Given the description of an element on the screen output the (x, y) to click on. 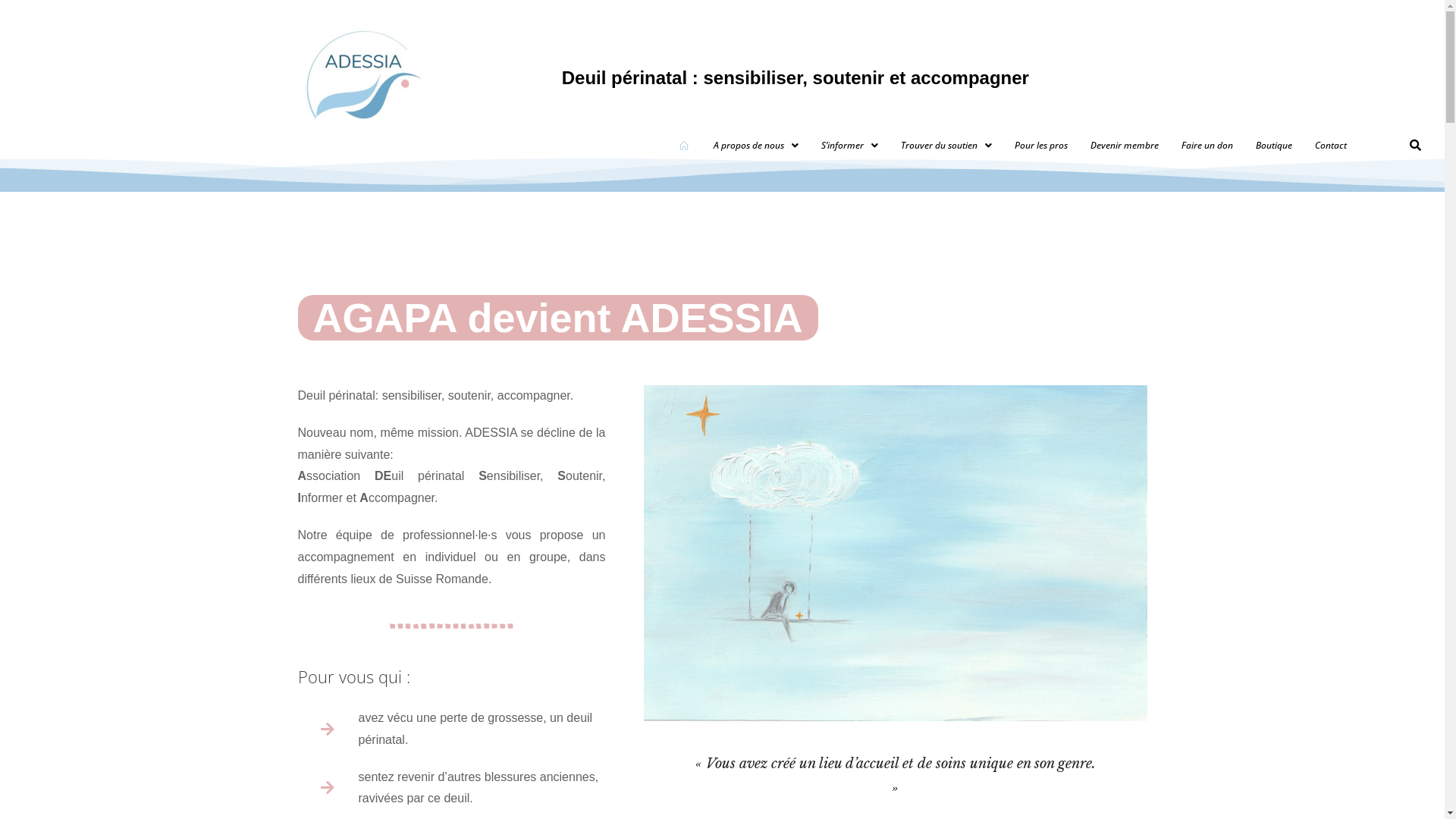
Contact Element type: text (1330, 145)
A propos de nous Element type: text (755, 145)
Faire un don Element type: text (1207, 145)
  Element type: text (685, 145)
Devenir membre Element type: text (1124, 145)
Trouver du soutien Element type: text (946, 145)
Boutique Element type: text (1273, 145)
Pour les pros Element type: text (1041, 145)
Recherche Element type: hover (1412, 146)
